Given the description of an element on the screen output the (x, y) to click on. 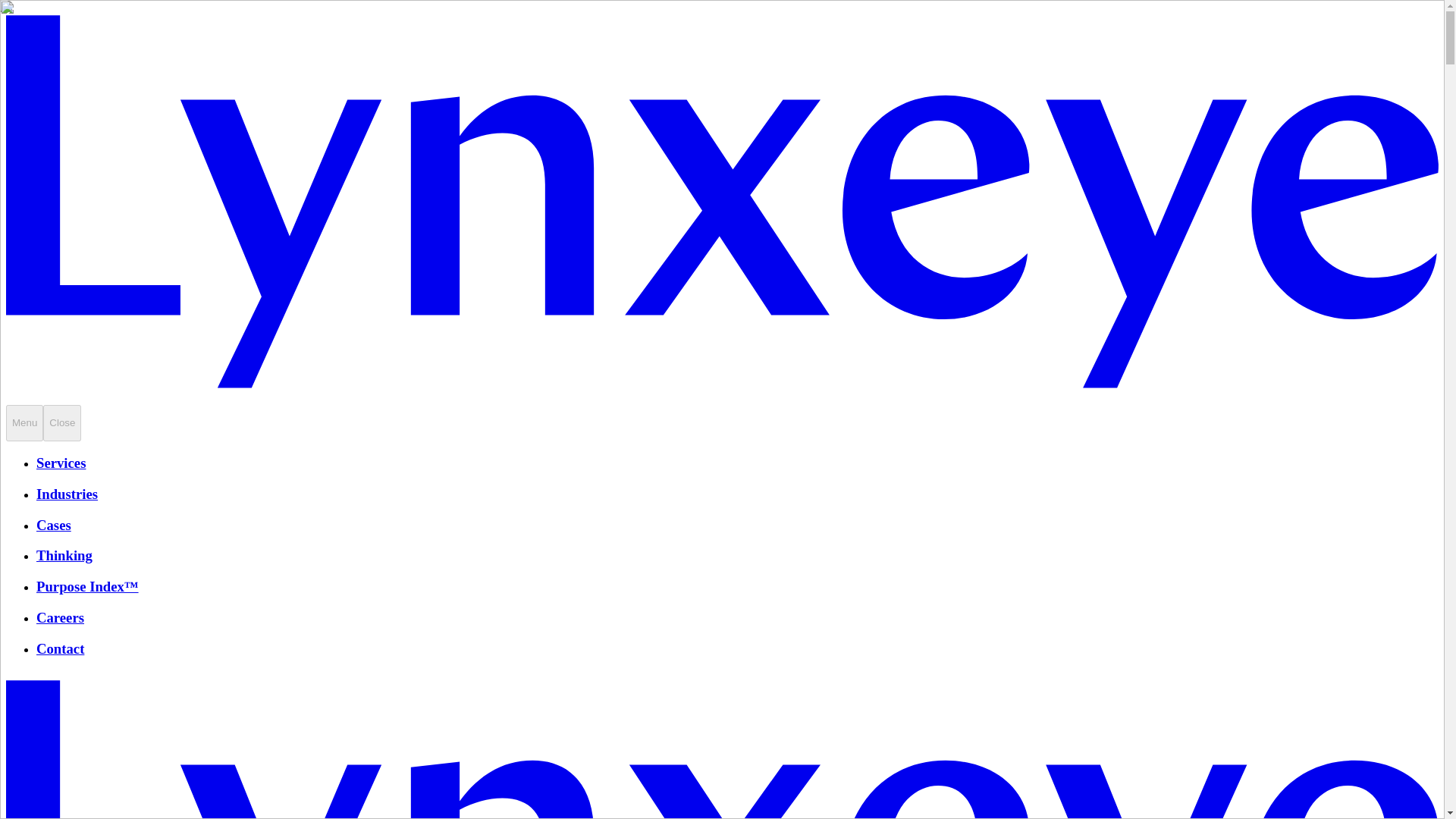
Menu (24, 422)
Close (62, 422)
